Given the description of an element on the screen output the (x, y) to click on. 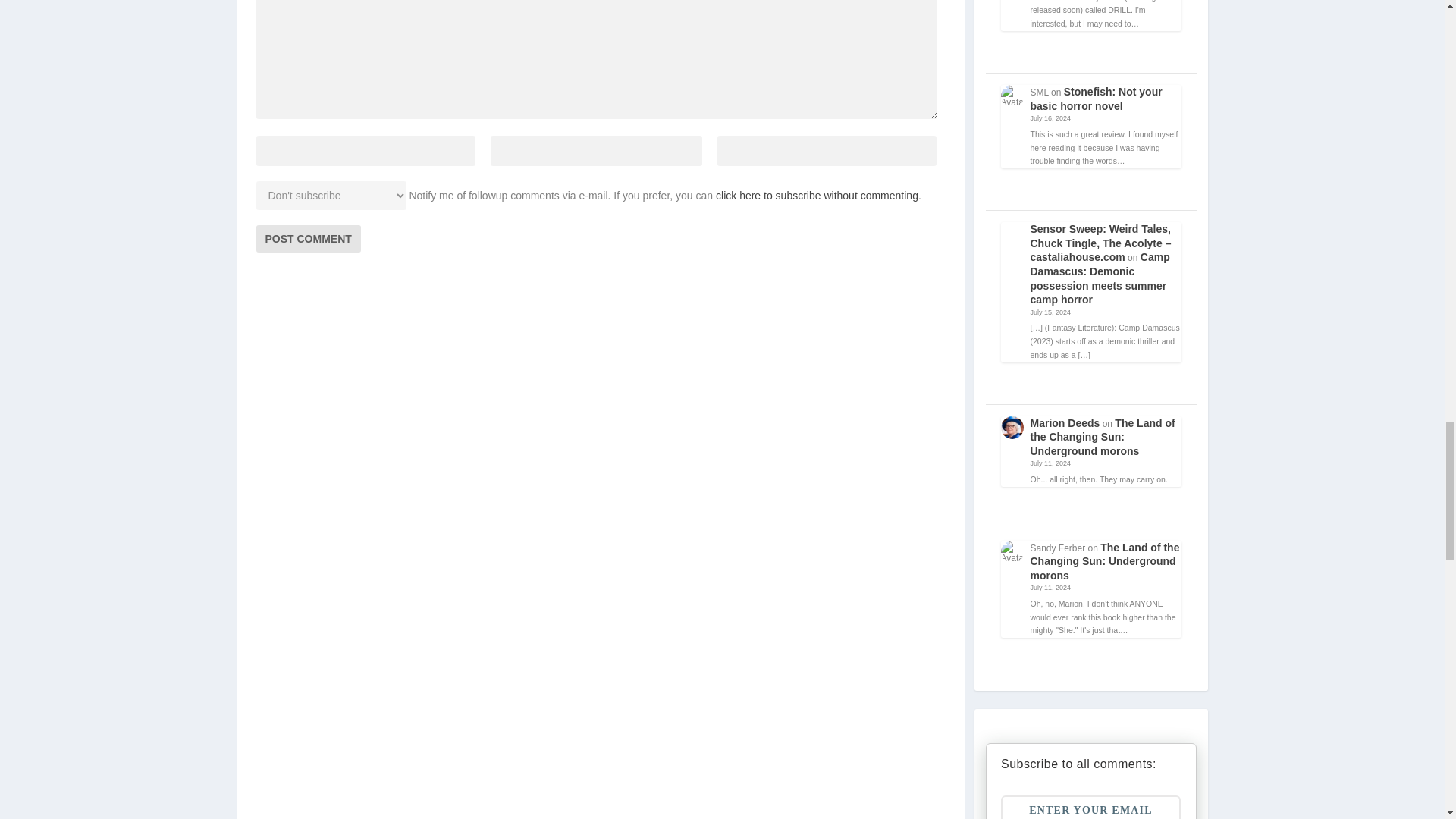
Post Comment (308, 238)
